Given the description of an element on the screen output the (x, y) to click on. 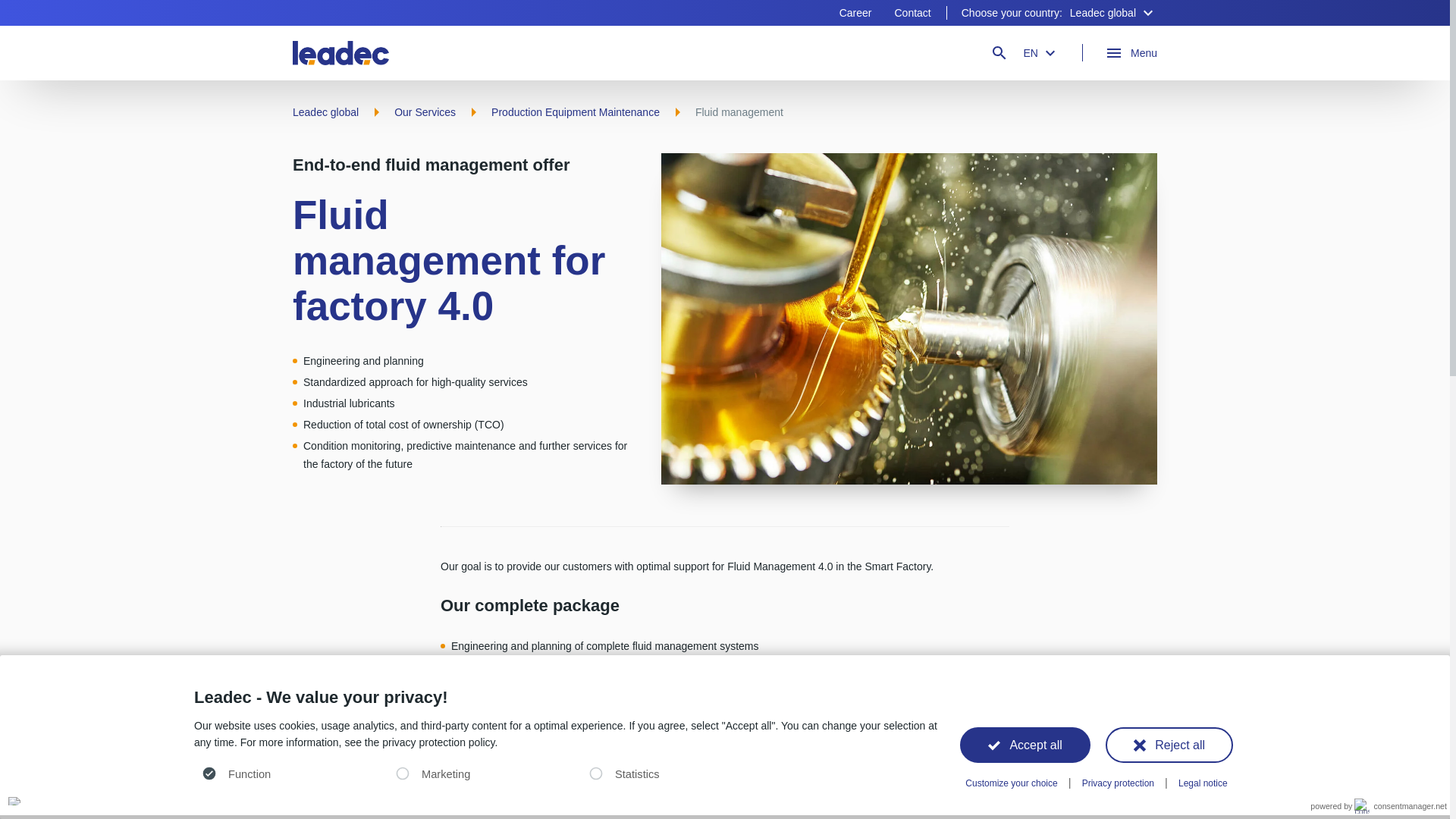
Purpose (565, 774)
Accept all (1024, 744)
Legal notice (1202, 783)
Contact (911, 12)
Reject all (1169, 744)
Career (856, 12)
Privacy settings (17, 801)
Language: en (14, 800)
consentmanager.net (1400, 806)
